Given the description of an element on the screen output the (x, y) to click on. 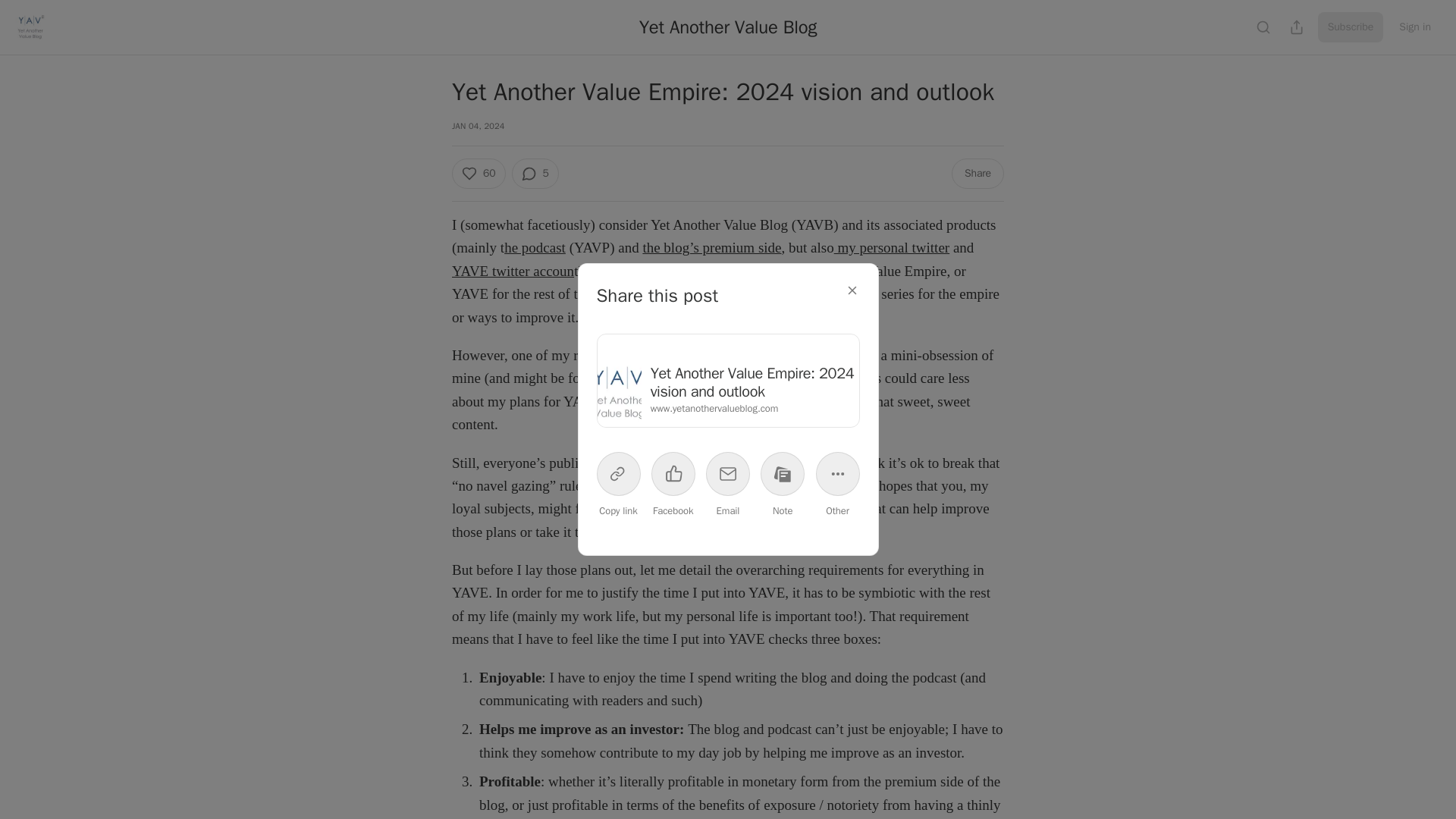
Yet Another Value Blog (727, 26)
Sign in (1415, 27)
he podcast (534, 247)
my personal twitter (892, 247)
60 (478, 173)
Share (978, 173)
Subscribe (1350, 27)
5 (534, 173)
YAVE twitter accoun (512, 270)
